Given the description of an element on the screen output the (x, y) to click on. 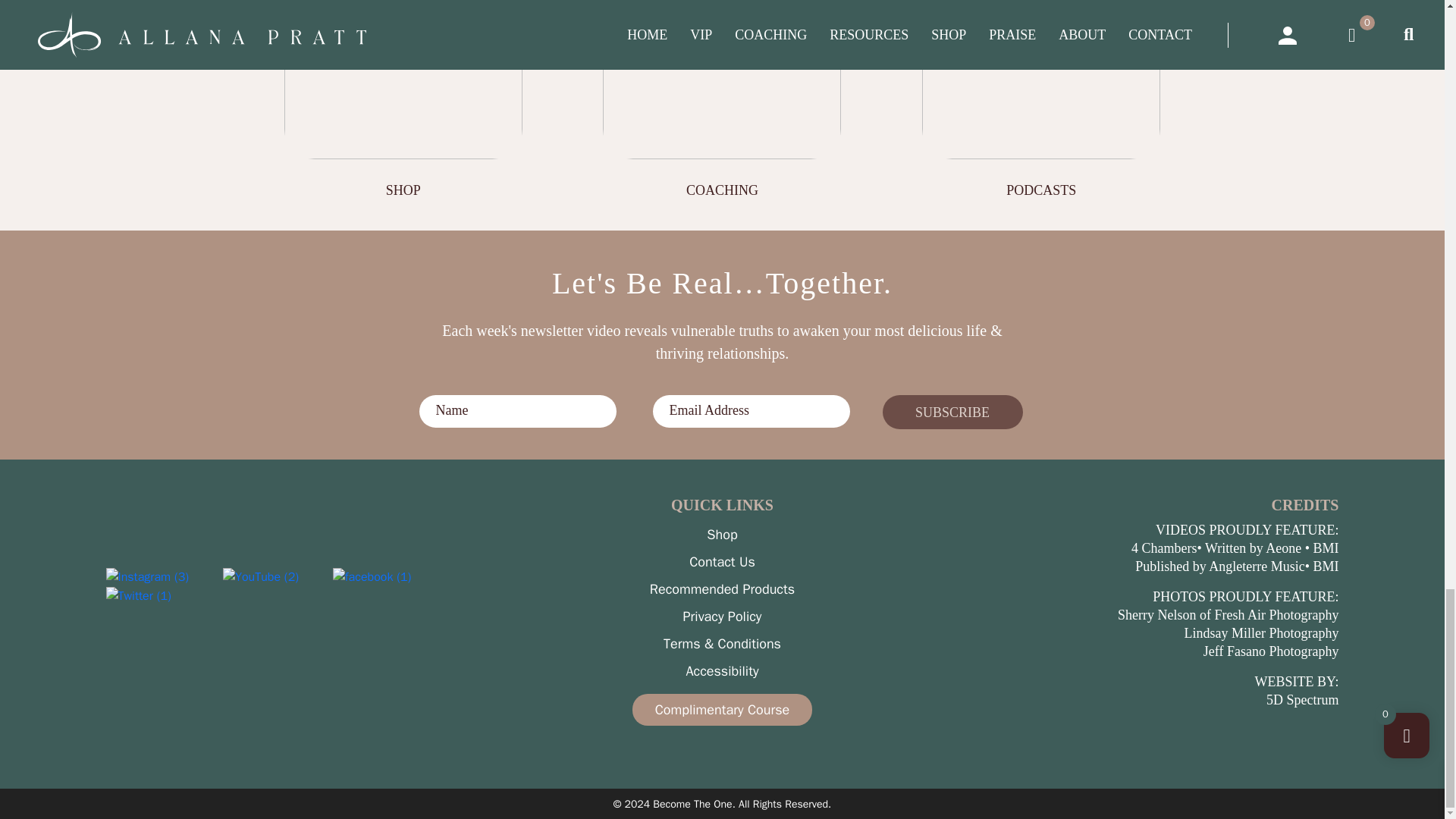
SHOP (402, 100)
COACHING (721, 100)
COACHING (721, 79)
PODCASTS (1040, 100)
PODCASTS (1040, 79)
Shop (402, 79)
